Given the description of an element on the screen output the (x, y) to click on. 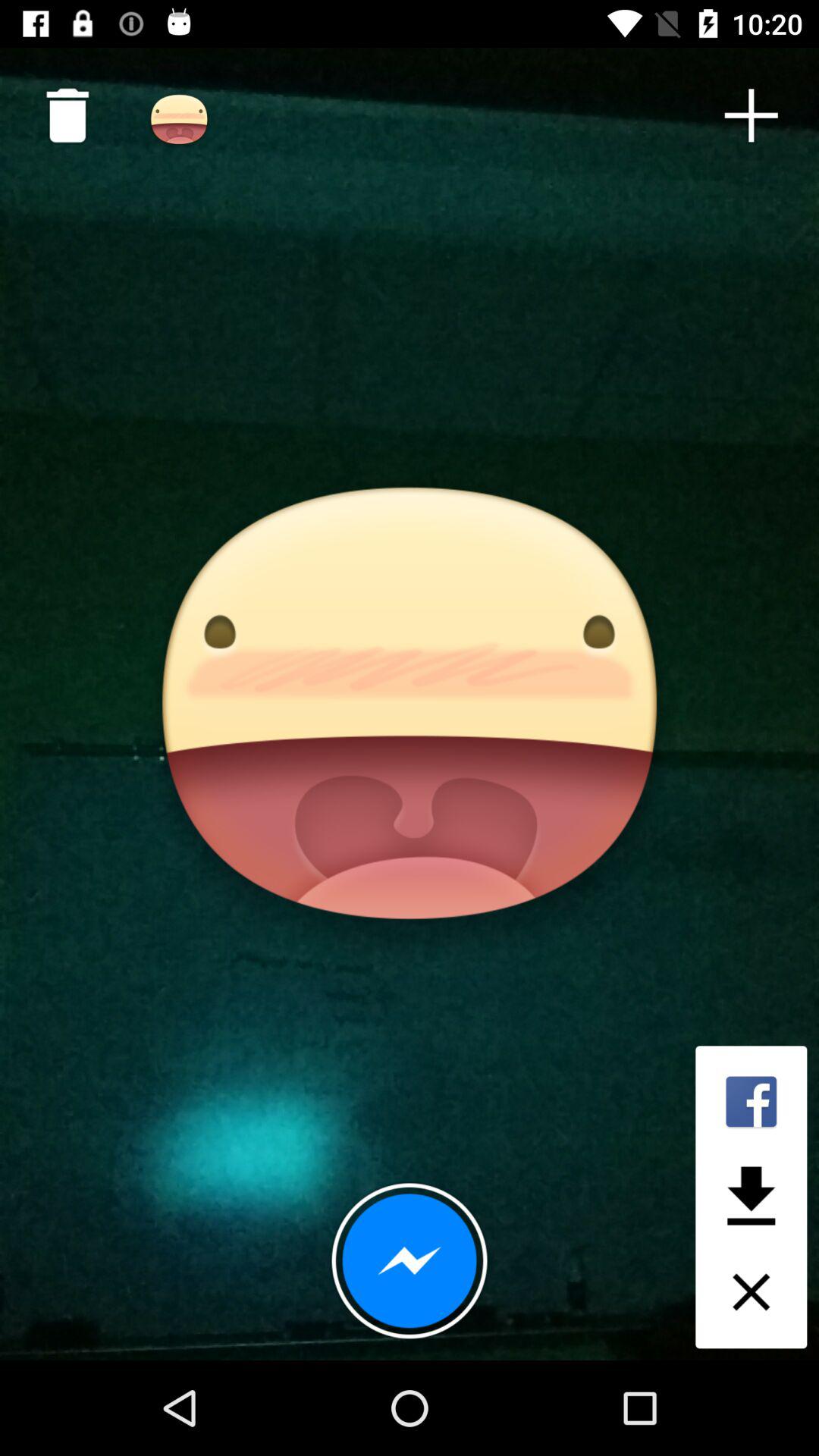
click the icon at the top right corner (751, 115)
